Given the description of an element on the screen output the (x, y) to click on. 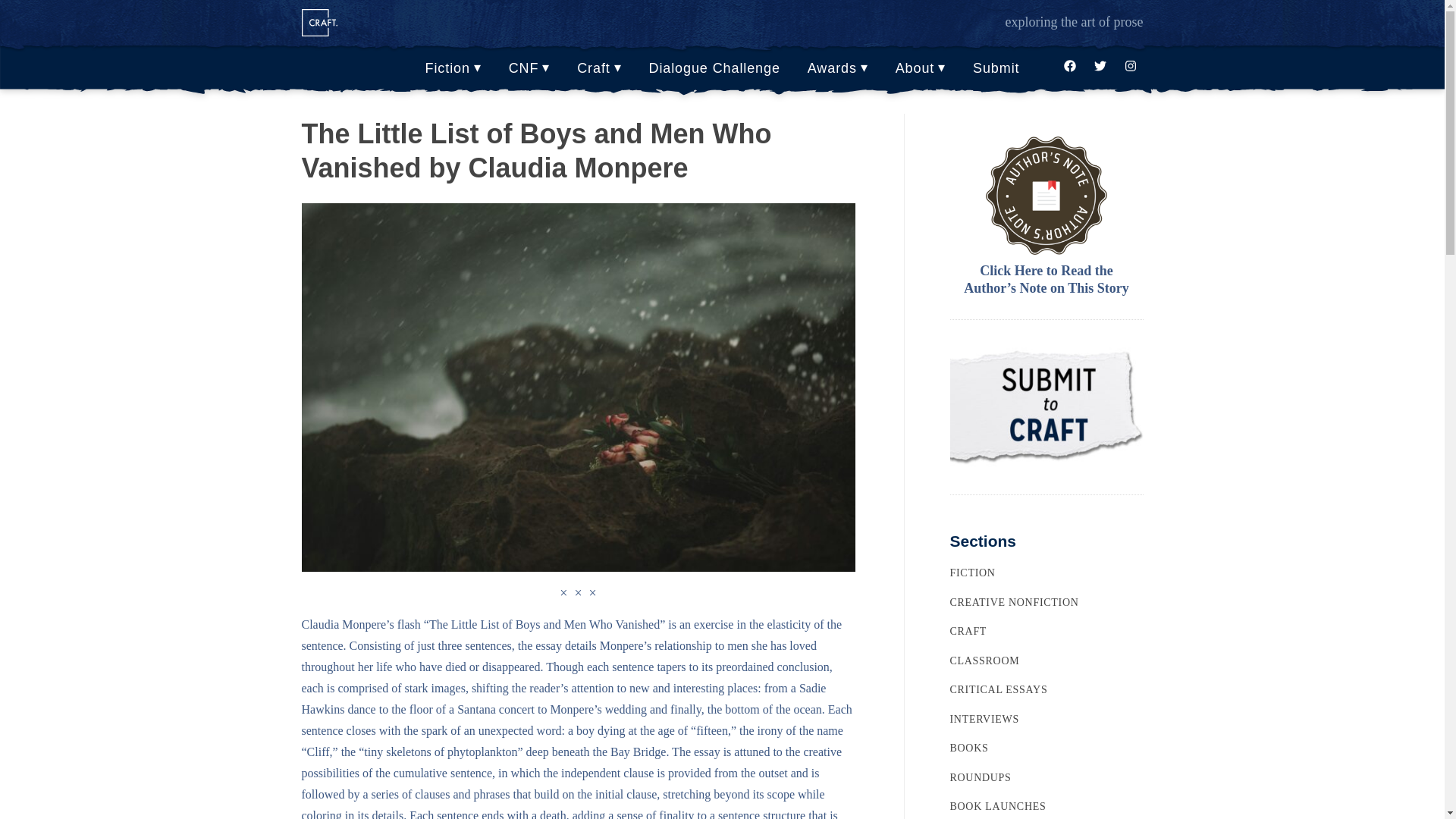
CNF (529, 68)
Awards (837, 68)
Dialogue Challenge (714, 68)
Fiction (453, 68)
Craft (598, 68)
